Given the description of an element on the screen output the (x, y) to click on. 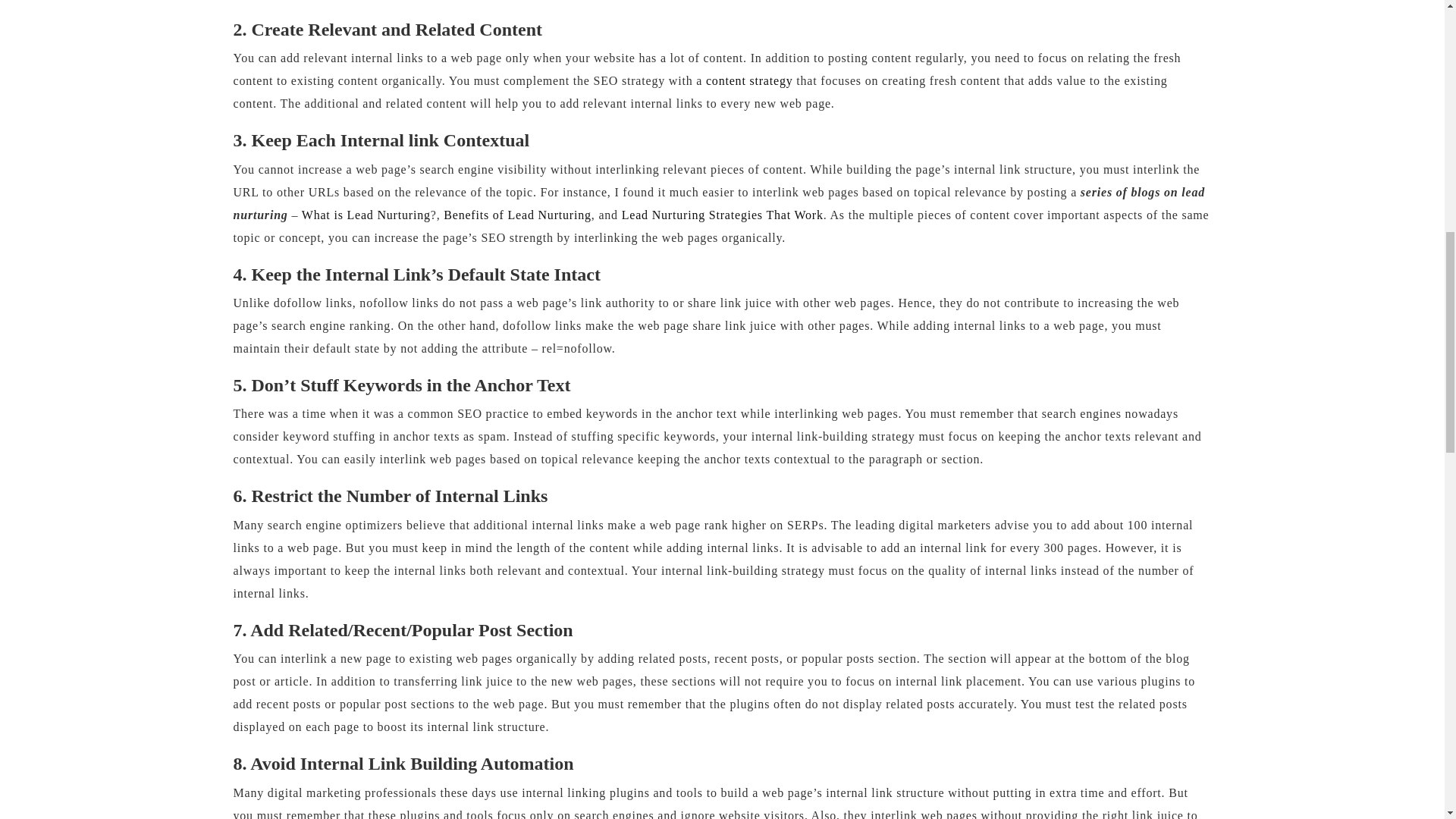
Lead Nurturing Strategies That Work (722, 214)
content strategy (749, 80)
Benefits of Lead Nurturing (517, 214)
What is Lead Nurturing (365, 214)
